Given the description of an element on the screen output the (x, y) to click on. 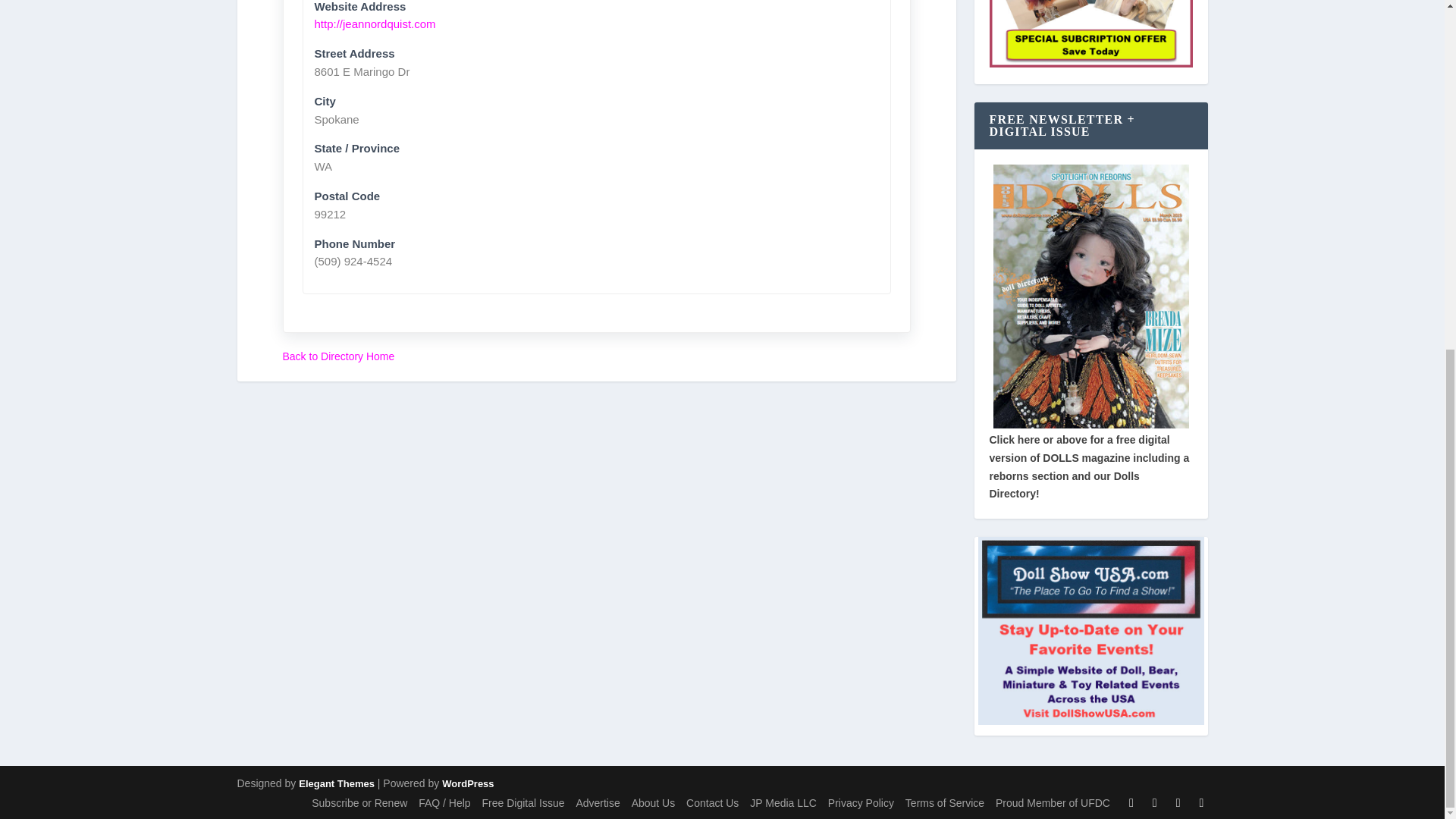
Premium WordPress Themes (336, 783)
About JP Media LLC (782, 802)
